Given the description of an element on the screen output the (x, y) to click on. 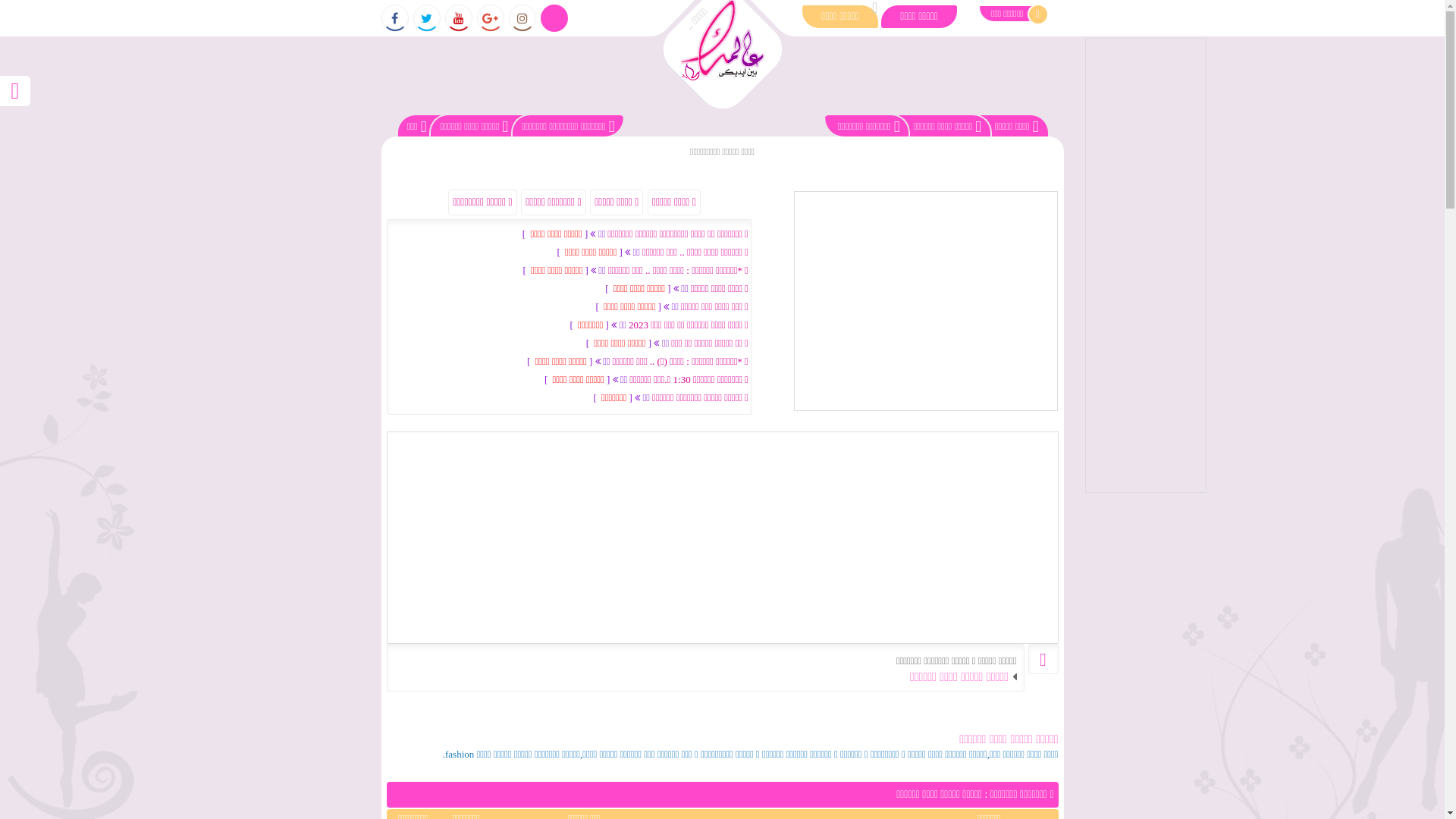
Advertisement Element type: hover (1144, 264)
Advertisement Element type: hover (722, 537)
Advertisement Element type: hover (925, 301)
